Given the description of an element on the screen output the (x, y) to click on. 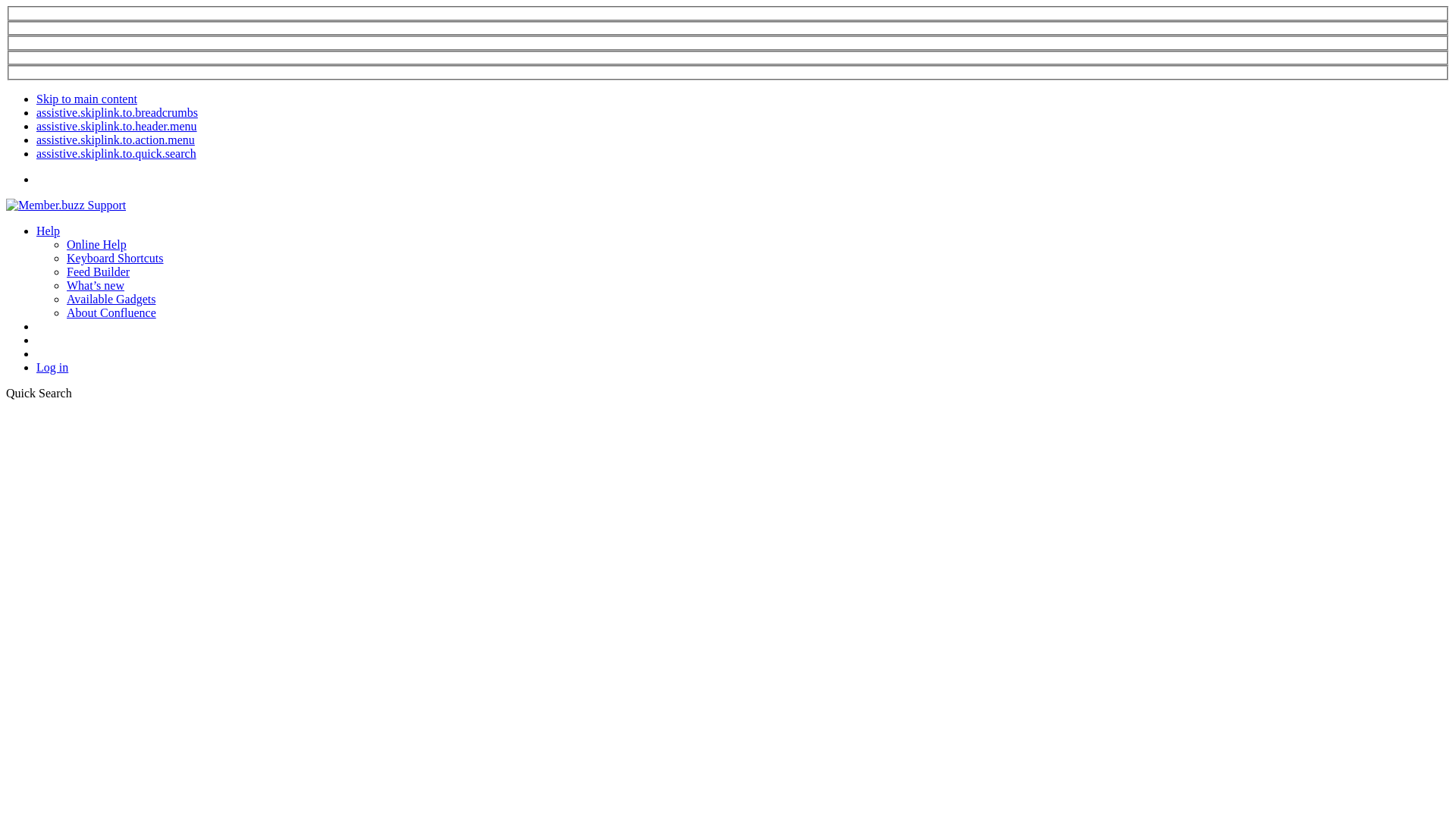
Available Gadgets Element type: text (110, 298)
Feed Builder Element type: text (97, 271)
assistive.skiplink.to.breadcrumbs Element type: text (116, 112)
Skip to main content Element type: text (86, 98)
assistive.skiplink.to.action.menu Element type: text (115, 139)
Online Help Element type: text (96, 244)
assistive.skiplink.to.quick.search Element type: text (116, 153)
Log in Element type: text (52, 366)
Keyboard Shortcuts Element type: text (114, 257)
assistive.skiplink.to.header.menu Element type: text (116, 125)
Help Element type: text (47, 230)
About Confluence Element type: text (111, 312)
